Given the description of an element on the screen output the (x, y) to click on. 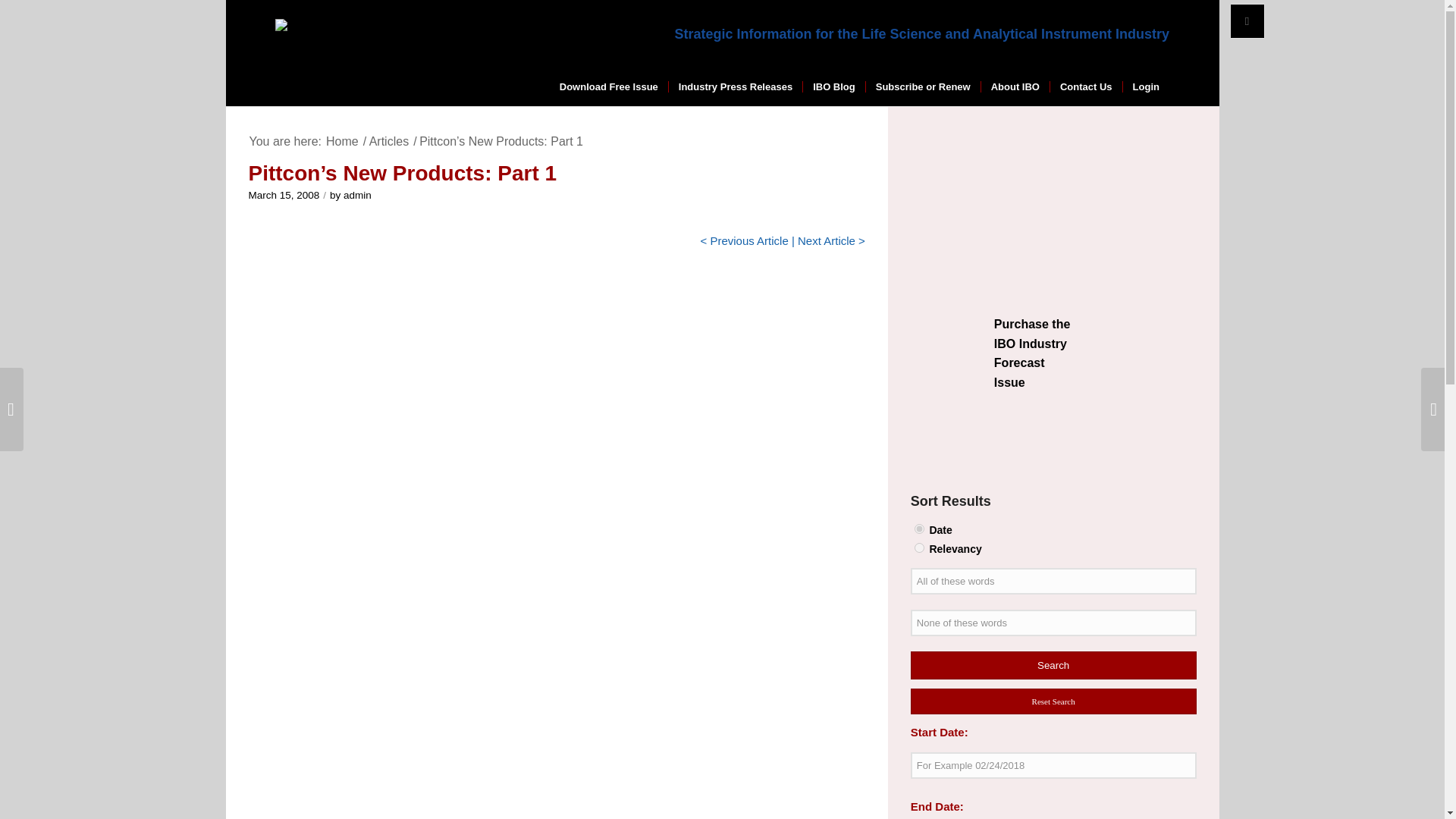
relevancy (919, 547)
Next Article (826, 240)
Articles (388, 141)
Subscribe or Renew (921, 86)
admin (357, 194)
Posts by admin (357, 194)
relevancy (919, 547)
date (919, 528)
date (919, 528)
Download Free Issue (609, 86)
IBO (342, 141)
Previous Article (748, 240)
Articles (388, 141)
Industry Press Releases (735, 86)
Home (342, 141)
